Given the description of an element on the screen output the (x, y) to click on. 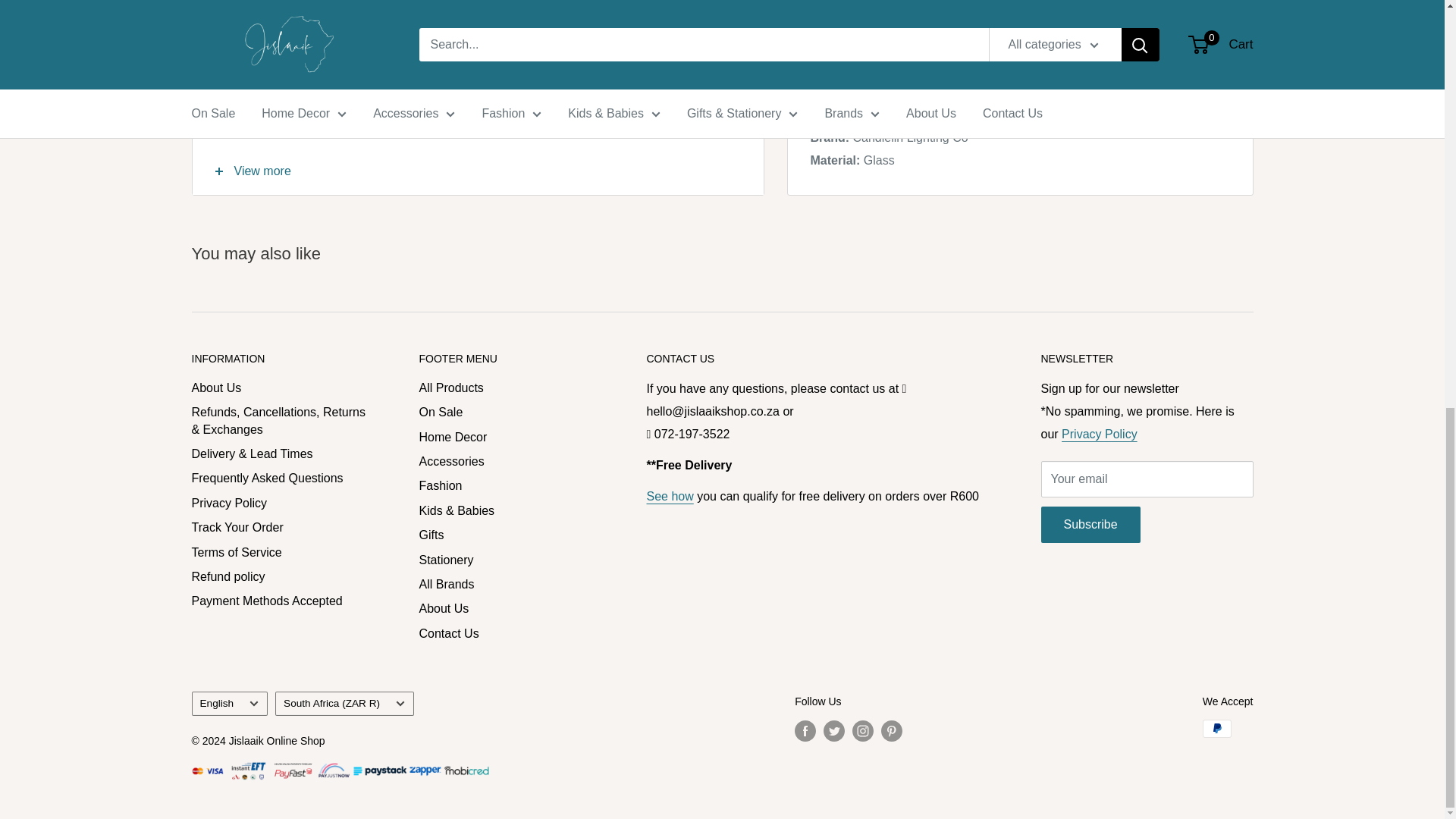
Privacy Policy (1099, 433)
Free Delivery (669, 495)
